Given the description of an element on the screen output the (x, y) to click on. 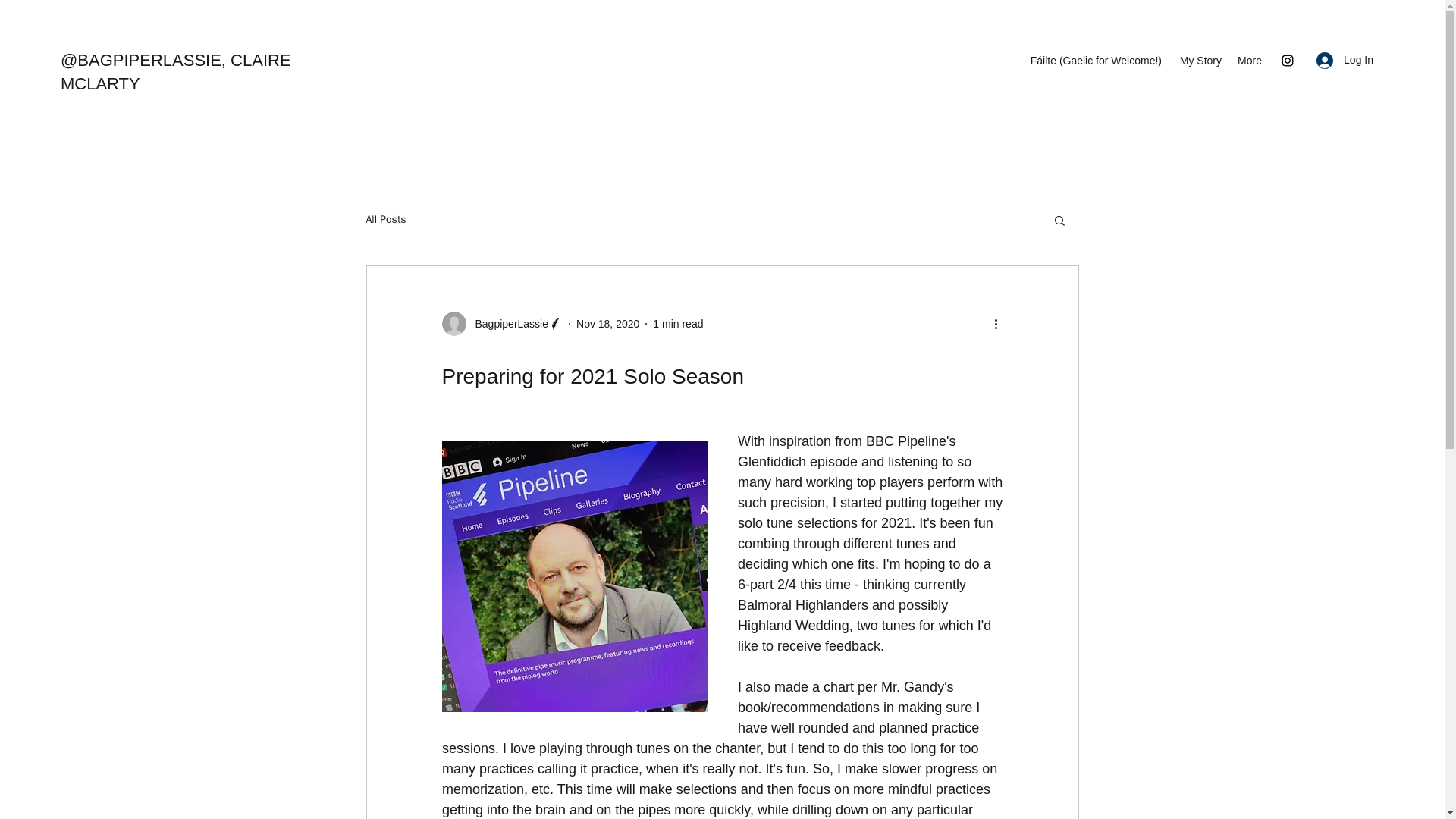
My Story (1198, 60)
Nov 18, 2020 (607, 323)
1 min read (677, 323)
All Posts (385, 219)
Log In (1345, 59)
BagpiperLassie (501, 323)
BagpiperLassie (506, 324)
